Given the description of an element on the screen output the (x, y) to click on. 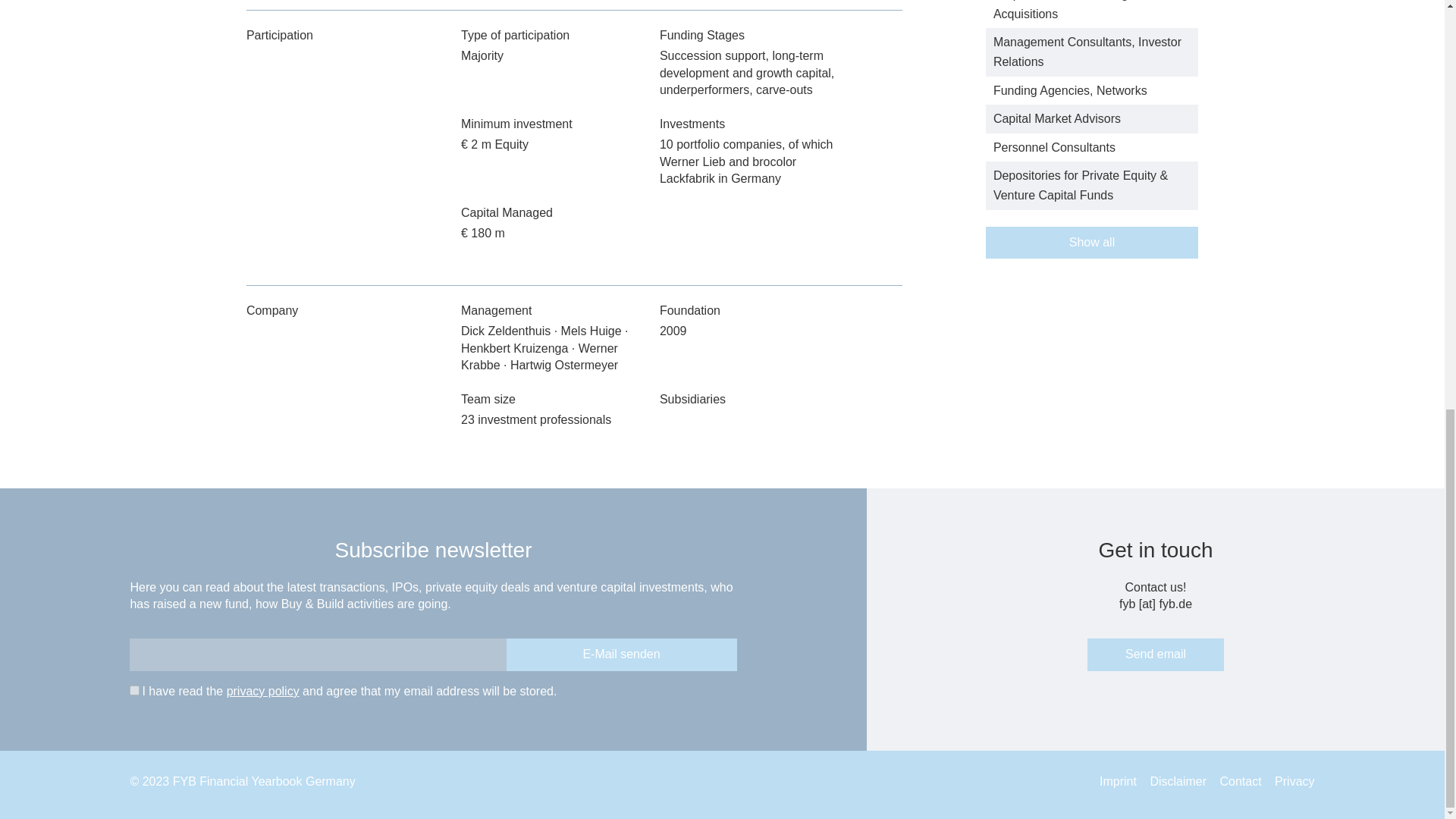
E-Mail senden (621, 654)
Capital Market Advisors (1056, 118)
1 (134, 690)
Management Consultants, Investor Relations (1086, 51)
Funding Agencies, Networks (1069, 90)
